Given the description of an element on the screen output the (x, y) to click on. 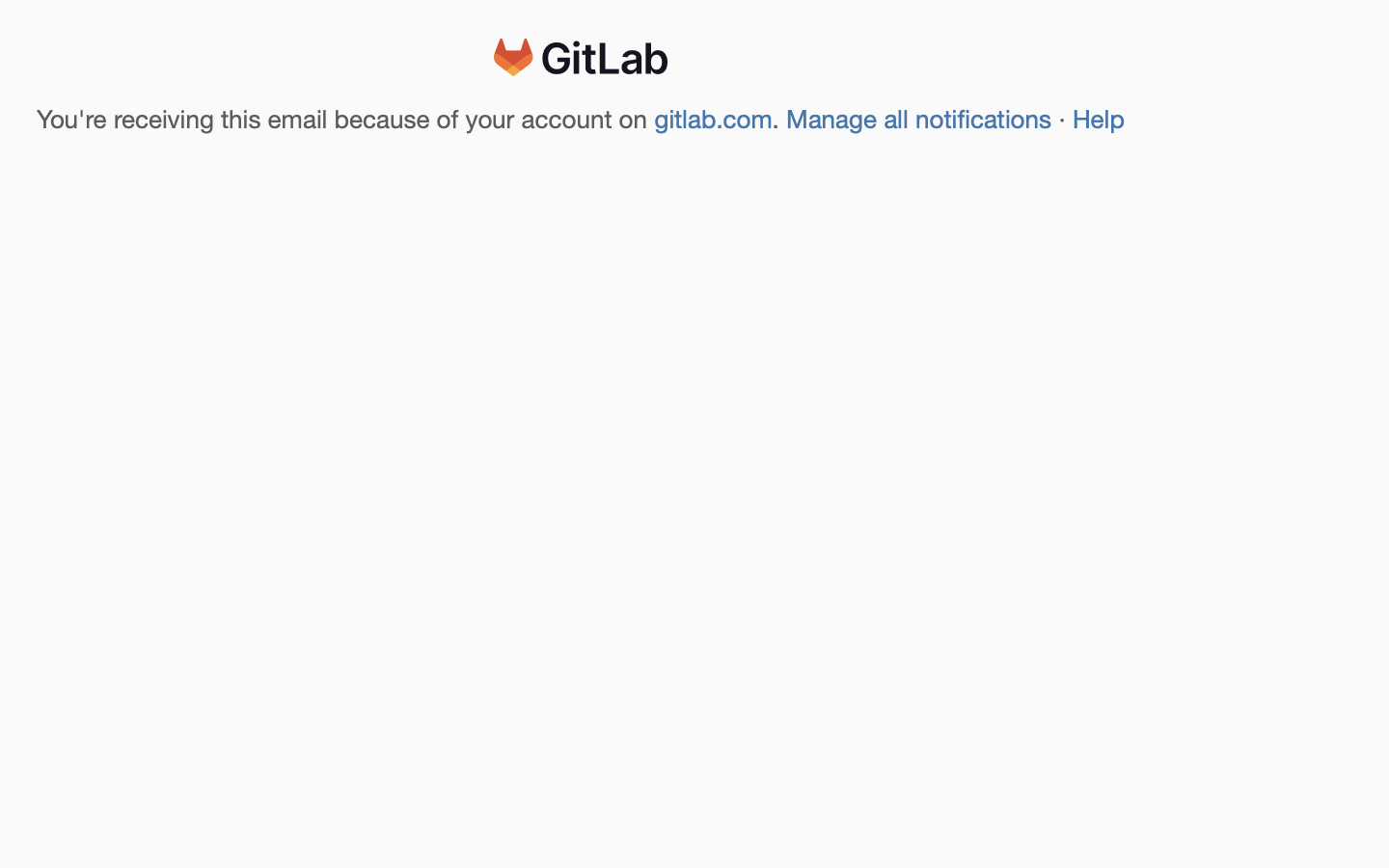
You're receiving this email because of your account on Element type: AXStaticText (345, 119)
